Given the description of an element on the screen output the (x, y) to click on. 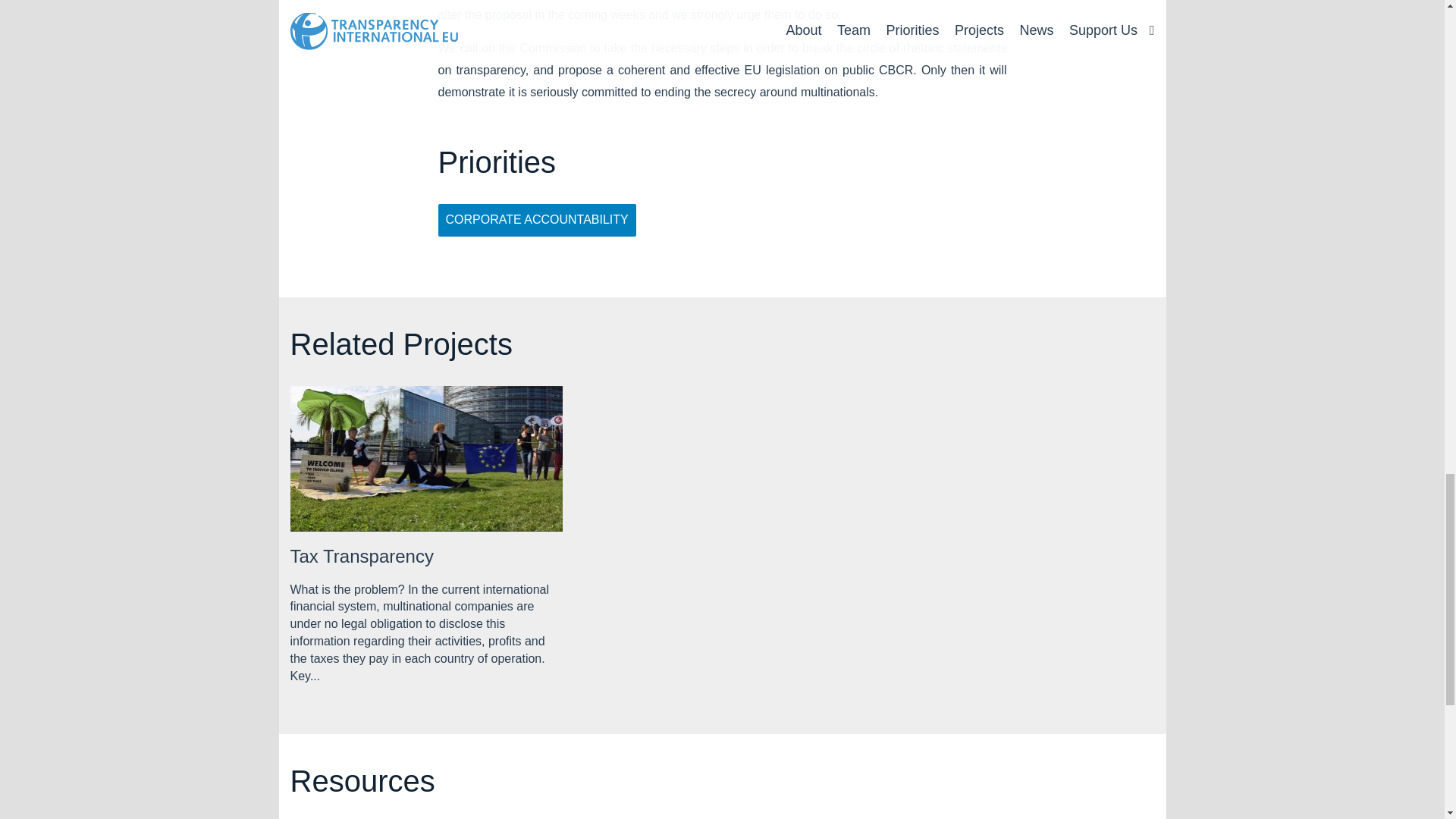
CORPORATE ACCOUNTABILITY (537, 219)
Tax Transparency (360, 556)
